Given the description of an element on the screen output the (x, y) to click on. 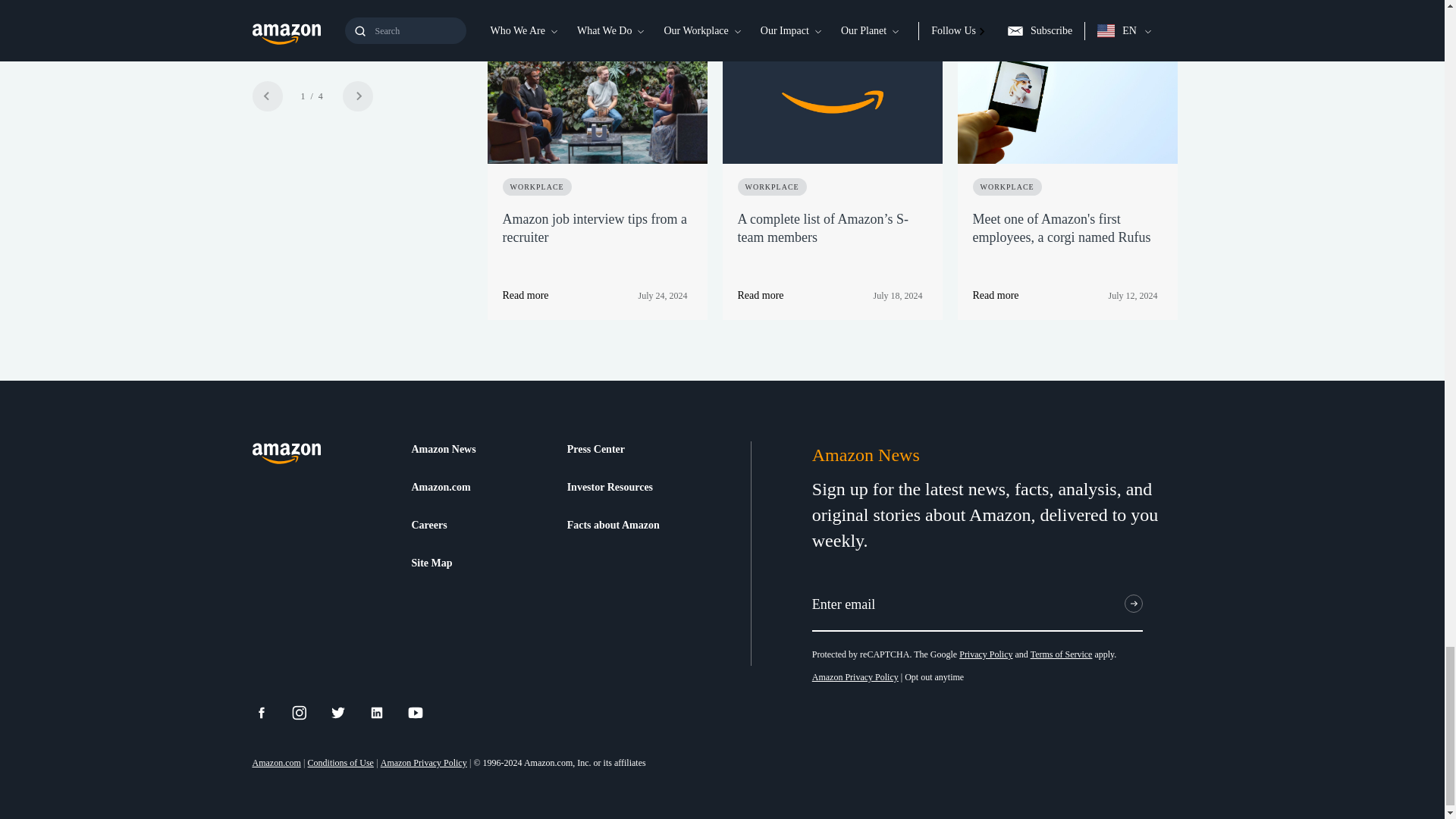
About Amazon Home (285, 453)
Facebook Share (269, 712)
LinkedIn Share (386, 712)
YouTube (425, 712)
Instagram (308, 712)
Twitter Share (347, 712)
